Given the description of an element on the screen output the (x, y) to click on. 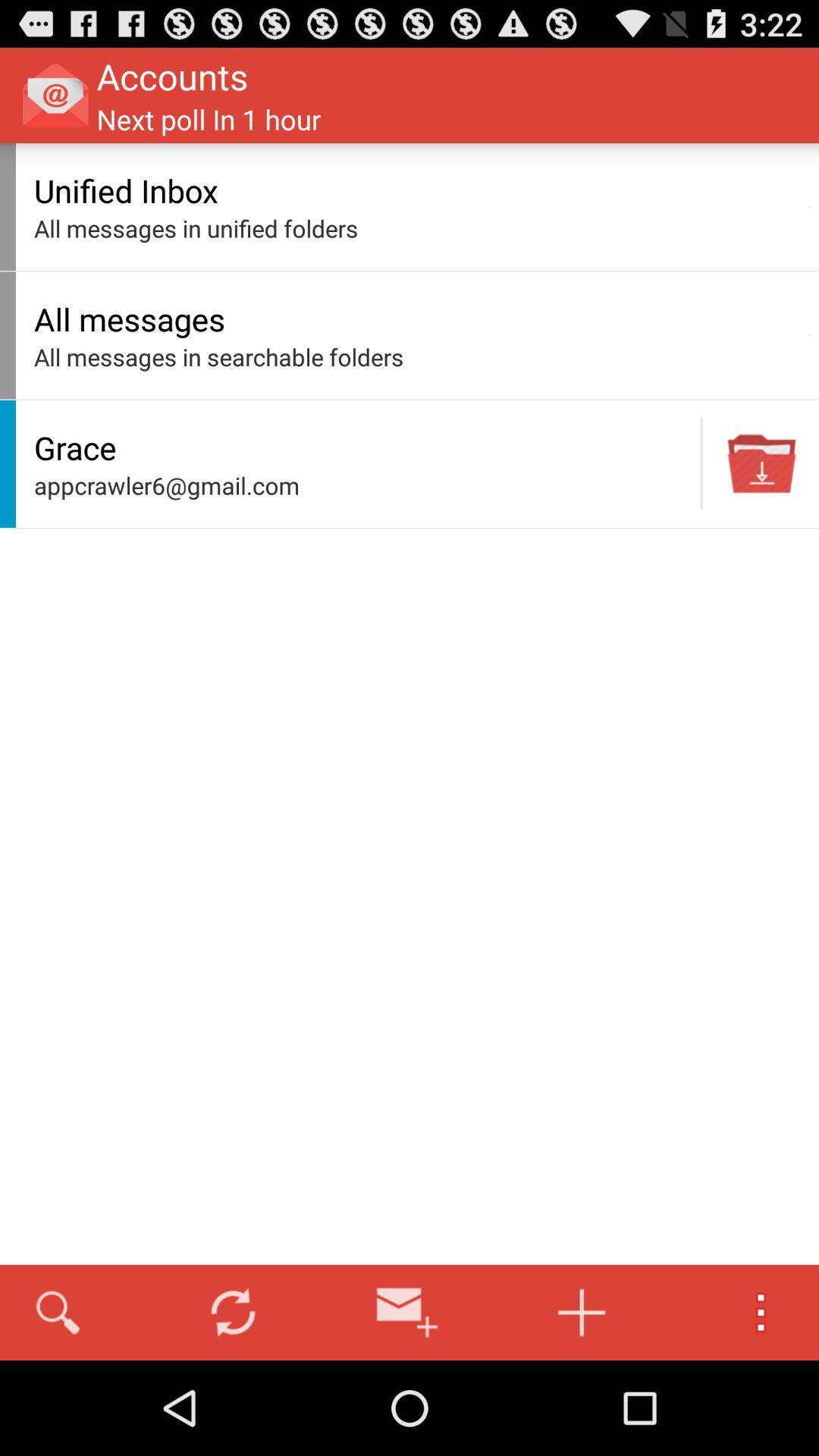
click app to the right of all messages icon (809, 335)
